Given the description of an element on the screen output the (x, y) to click on. 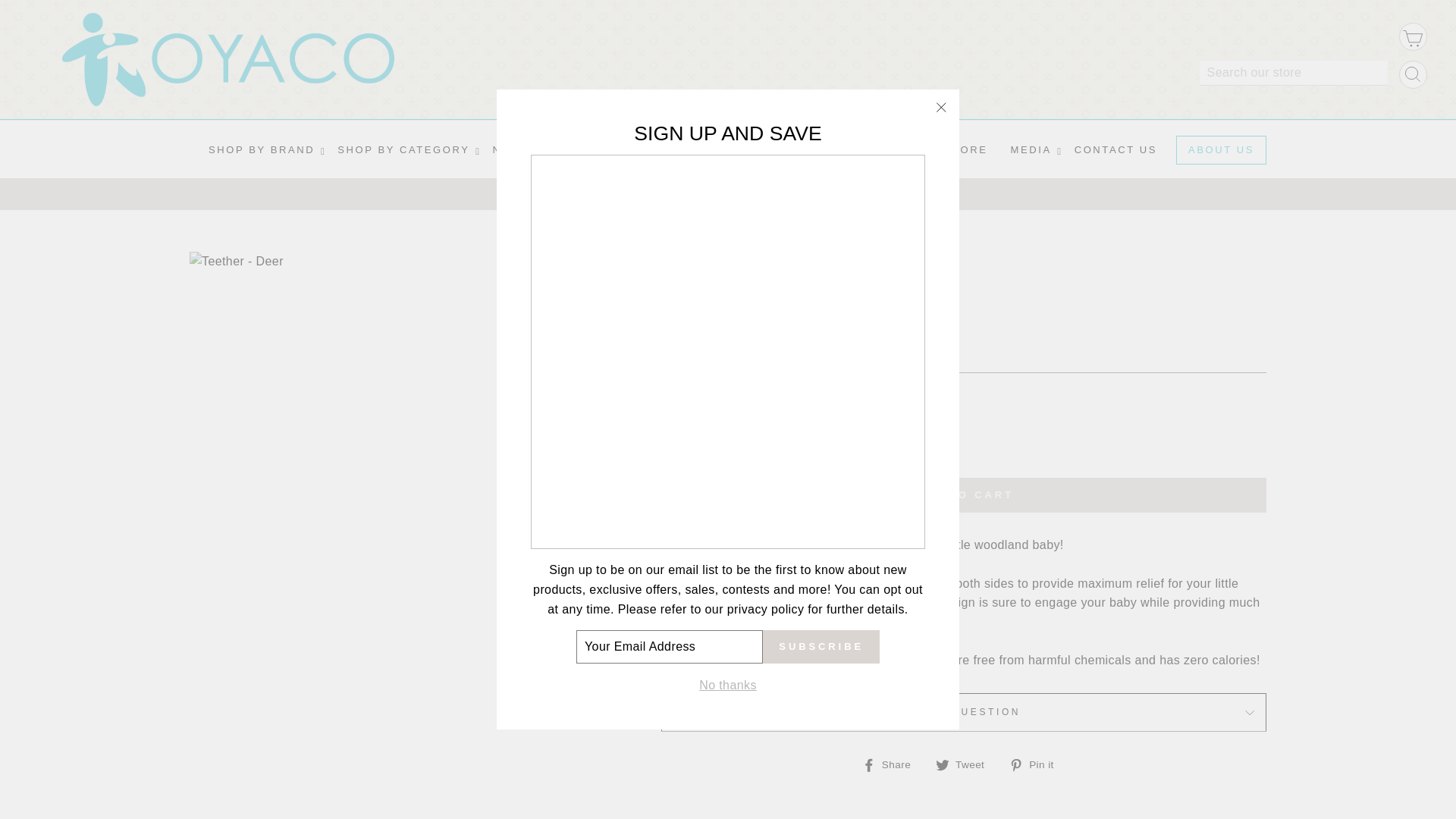
Share on Facebook (891, 763)
1 (698, 438)
Pin on Pinterest (1036, 763)
Tweet on Twitter (965, 763)
Search (1412, 74)
CART (1412, 36)
